Given the description of an element on the screen output the (x, y) to click on. 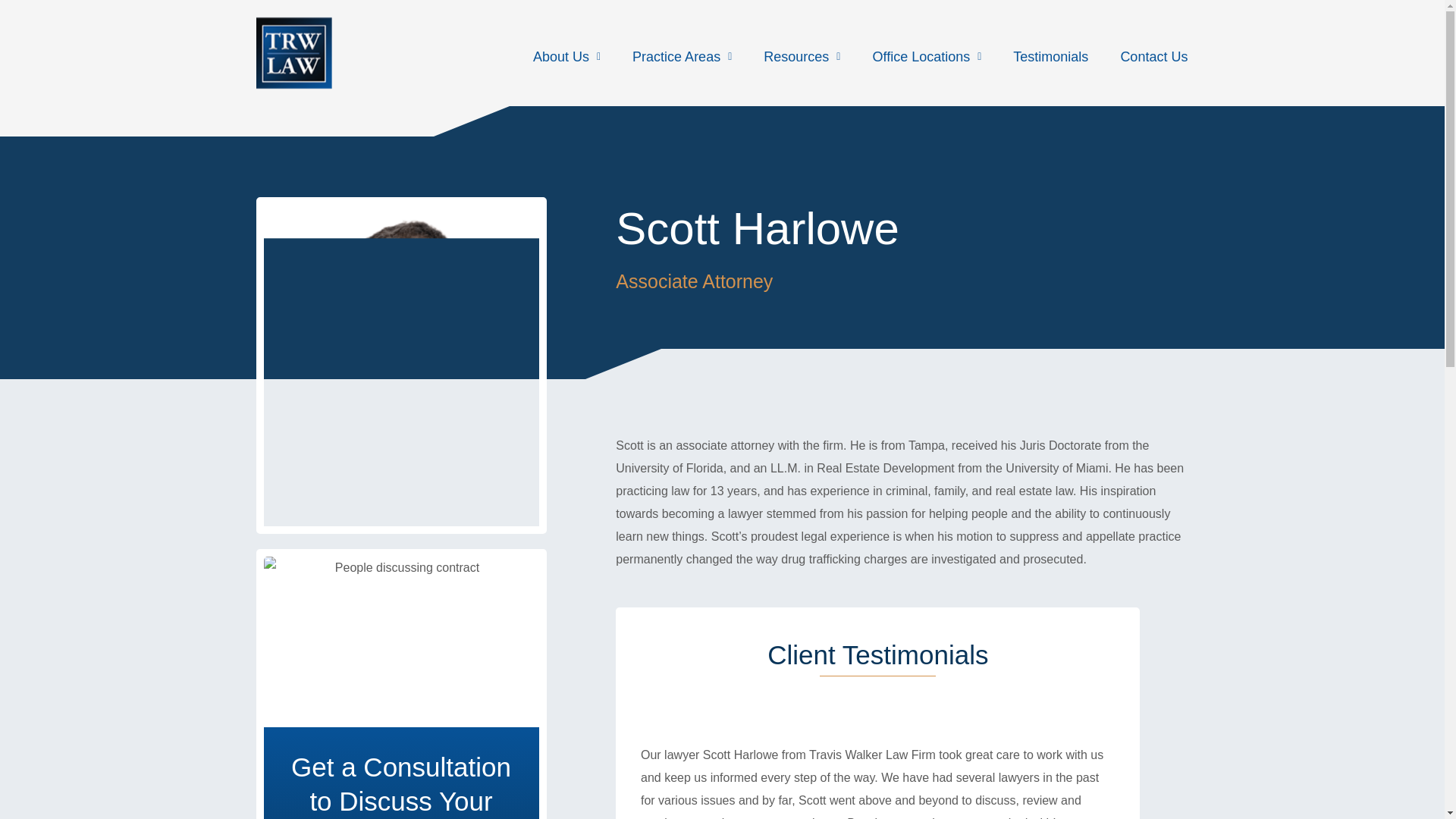
About Us (566, 56)
Testimonials (1050, 56)
Practice Areas (681, 56)
Contact Us (1153, 56)
Office Locations (926, 56)
Resources (801, 56)
